Given the description of an element on the screen output the (x, y) to click on. 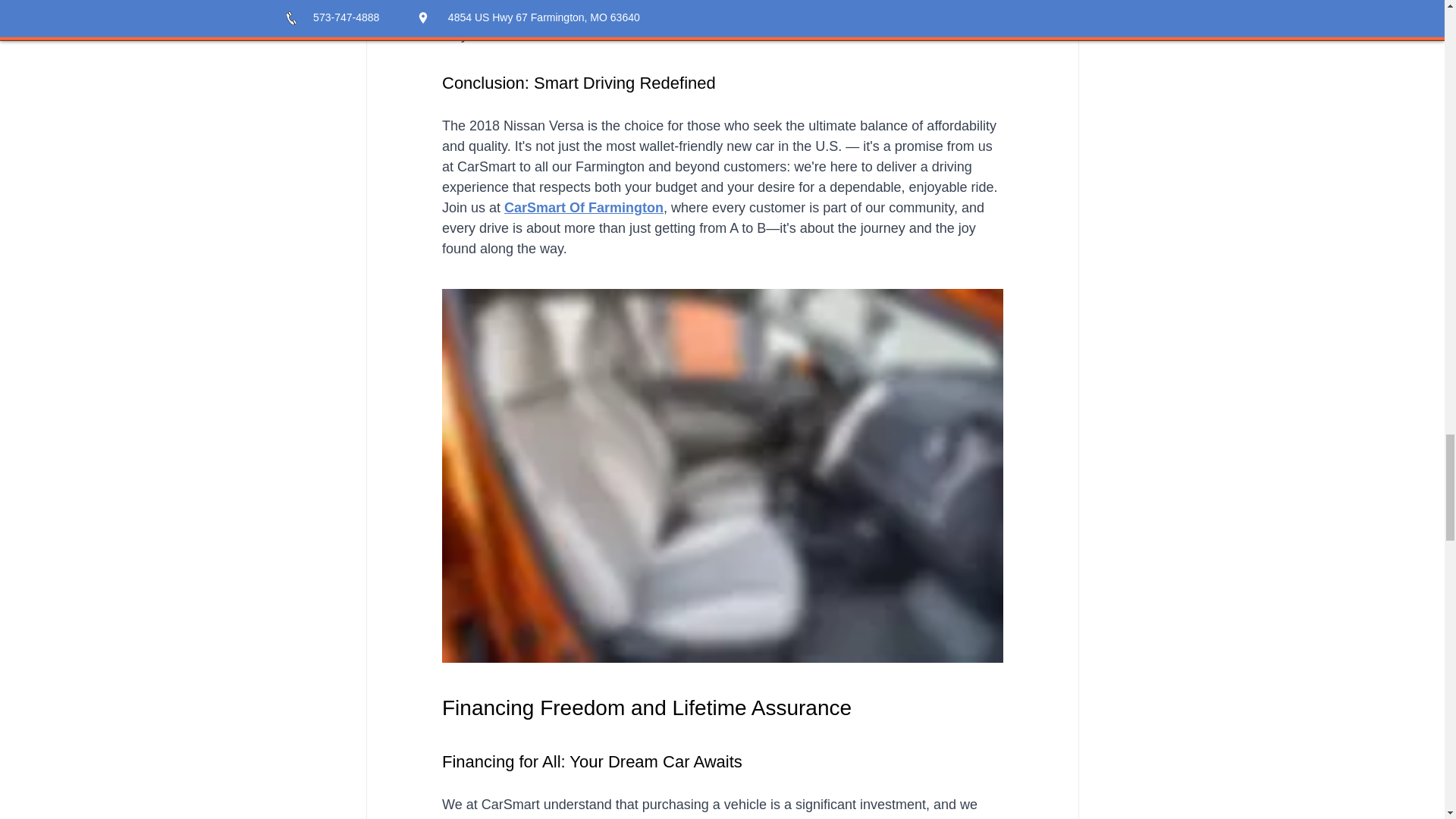
CarSmart Of Farmington (583, 207)
